Given the description of an element on the screen output the (x, y) to click on. 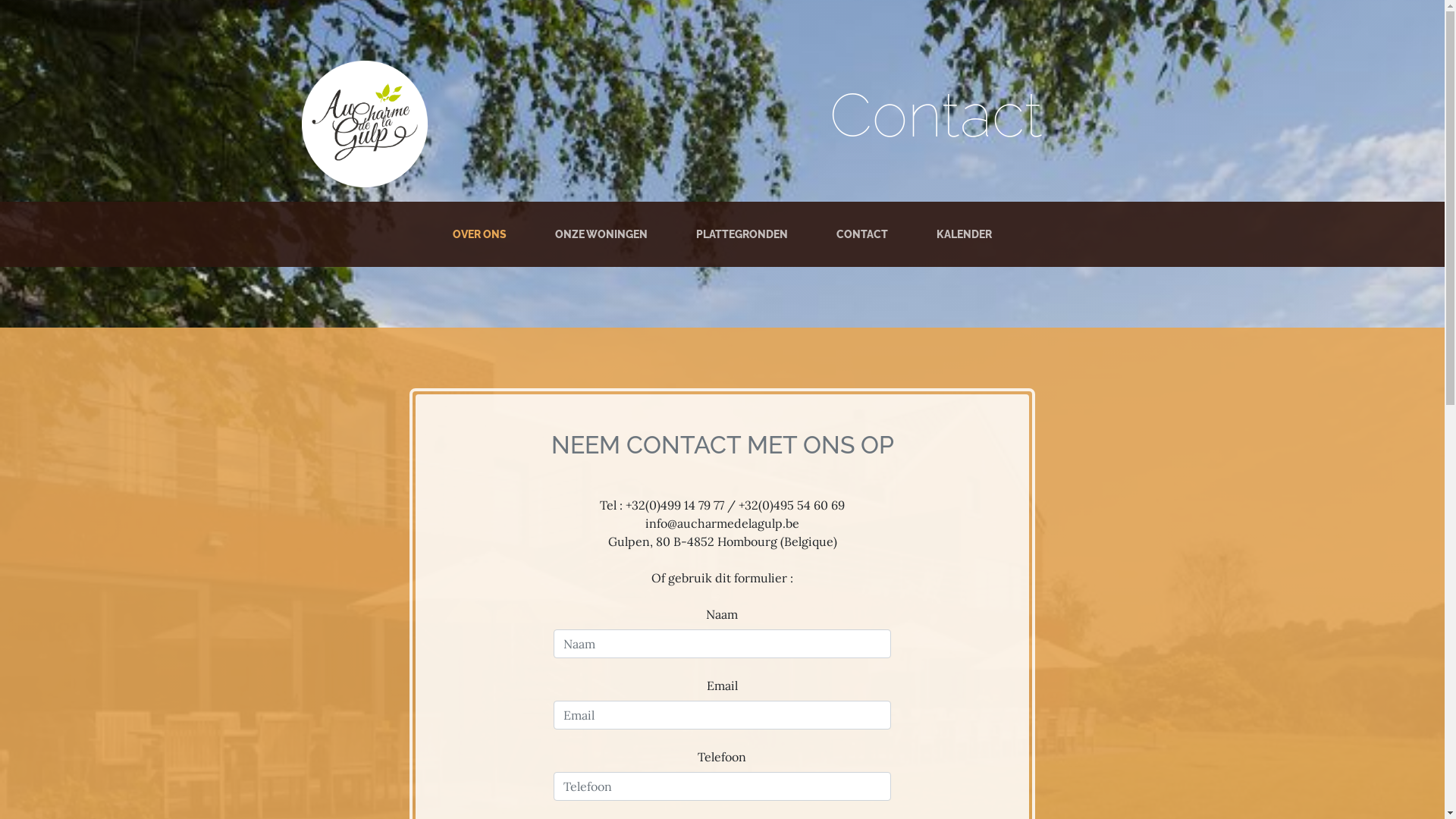
OVER ONS Element type: text (479, 233)
KALENDER Element type: text (963, 233)
PLATTEGRONDEN Element type: text (741, 233)
ONZE WONINGEN Element type: text (601, 233)
CONTACT Element type: text (862, 233)
